Given the description of an element on the screen output the (x, y) to click on. 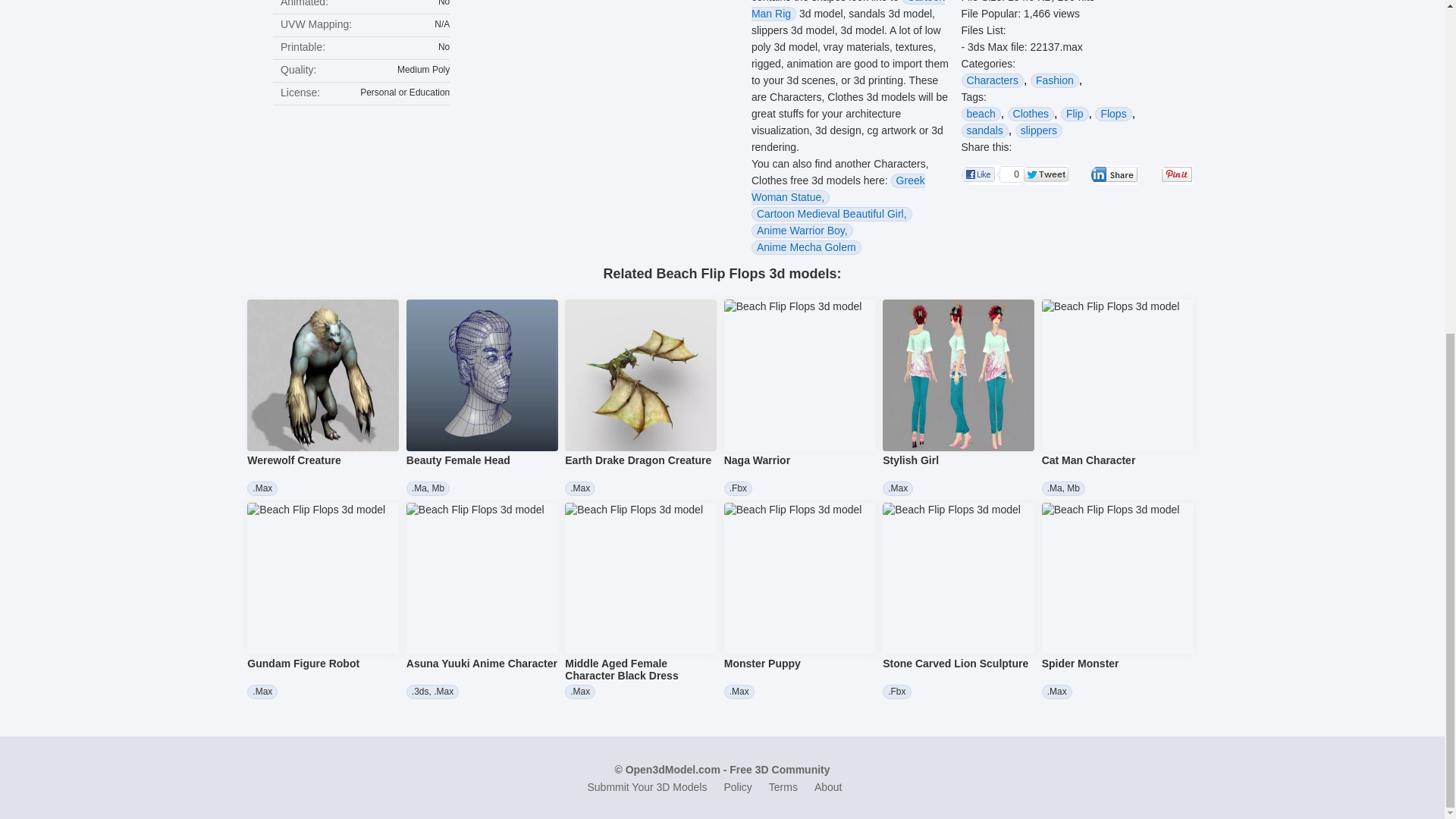
Fashion (1054, 80)
Cartoon Man Rig (847, 10)
Flops (1112, 114)
Cartoon Medieval Beautiful Girl, (831, 214)
Characters (991, 80)
0 (999, 175)
sandals (984, 130)
Flip (1075, 114)
Anime Mecha Golem (806, 247)
Anime Warrior Boy, (802, 230)
